Given the description of an element on the screen output the (x, y) to click on. 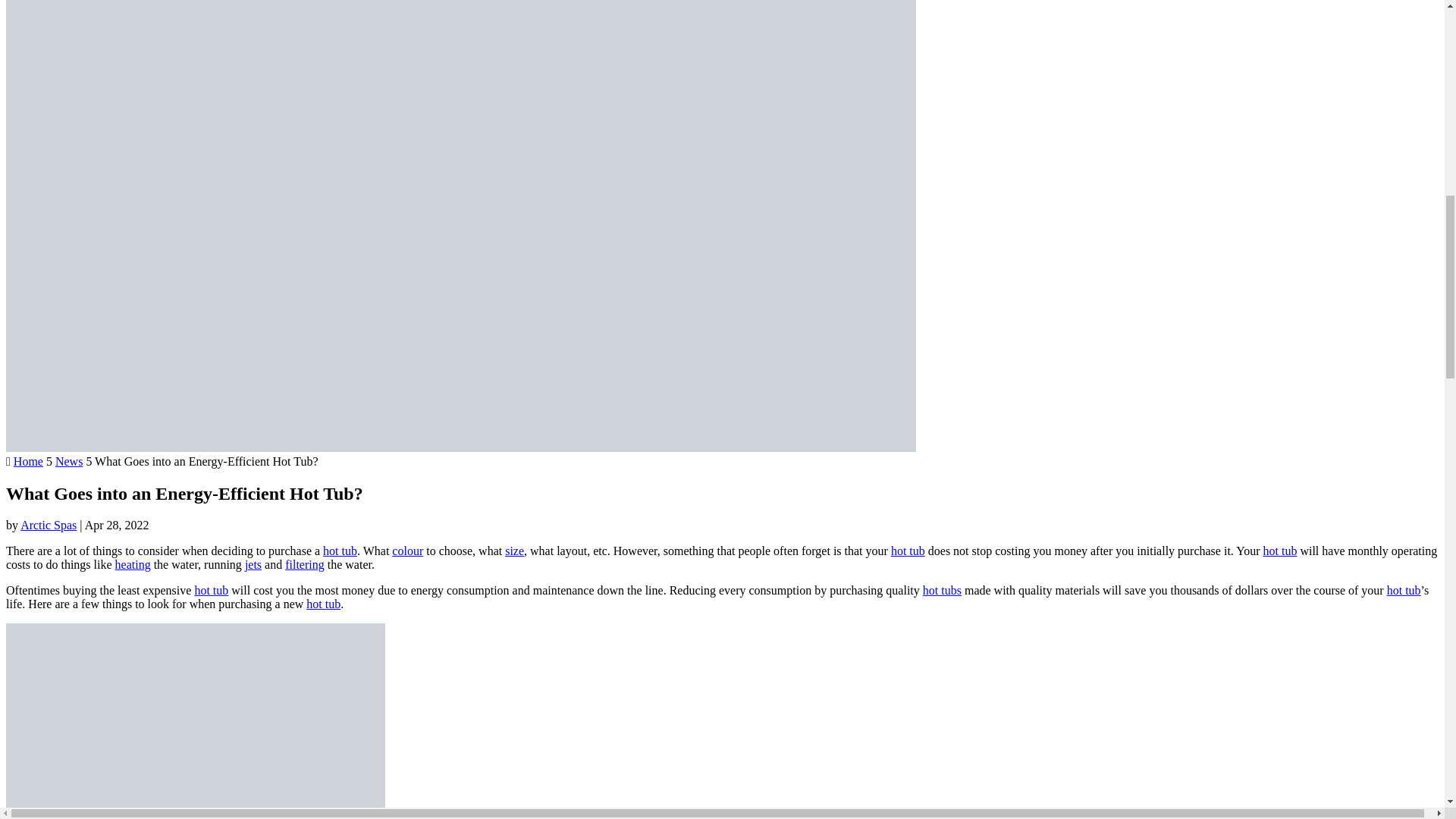
freeheat (195, 721)
Posts by Arctic Spas (48, 524)
